Given the description of an element on the screen output the (x, y) to click on. 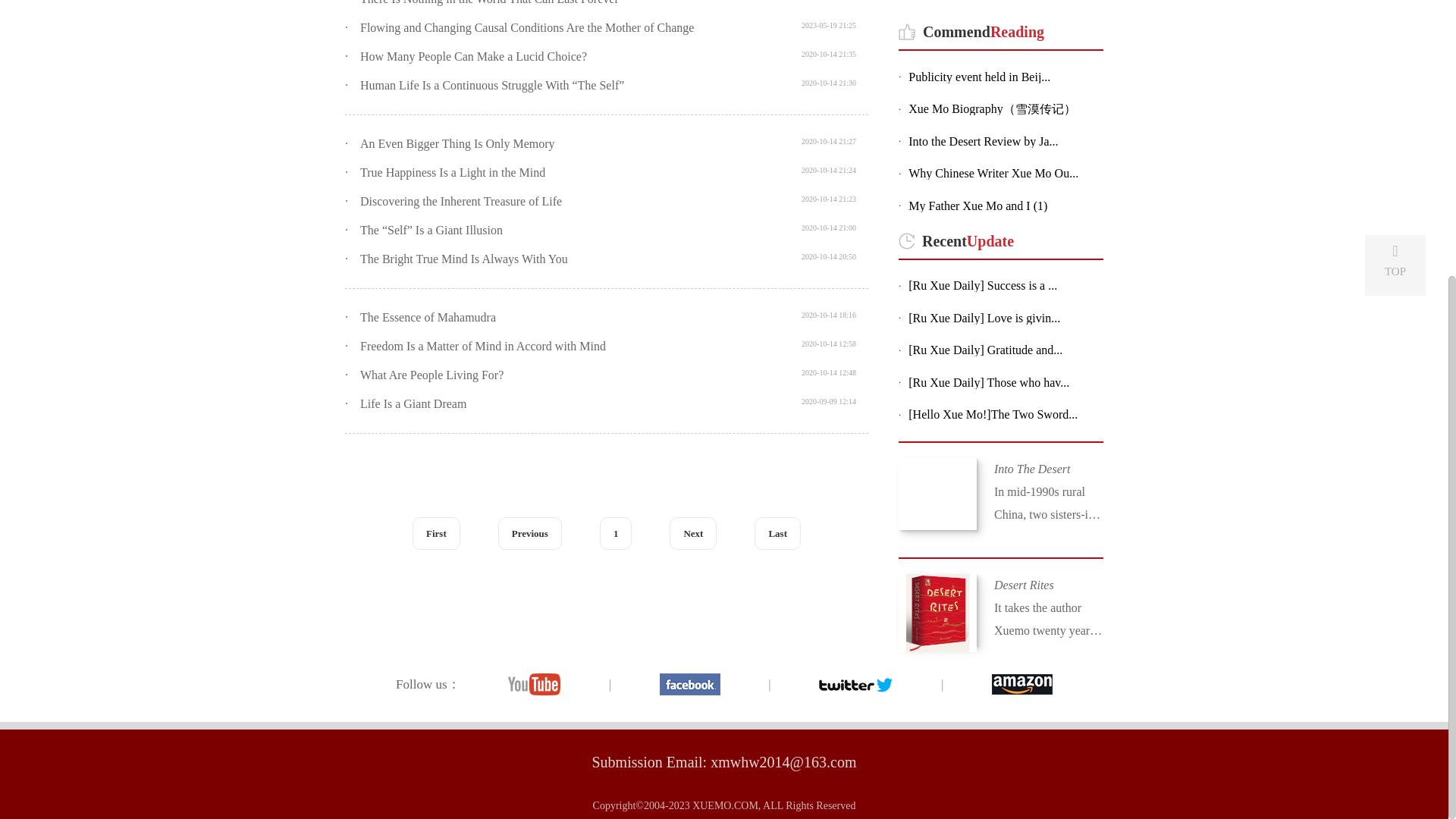
1 (615, 532)
Publicity event held in Beij... (1003, 77)
There Is Nothing in the World That Can Last Forever (488, 2)
The Essence of Mahamudra (427, 317)
Discovering the Inherent Treasure of Life (460, 201)
Previous (529, 532)
Next (692, 532)
An Even Bigger Thing Is Only Memory (456, 143)
Discovering the Inherent Treasure of Life (460, 201)
